Given the description of an element on the screen output the (x, y) to click on. 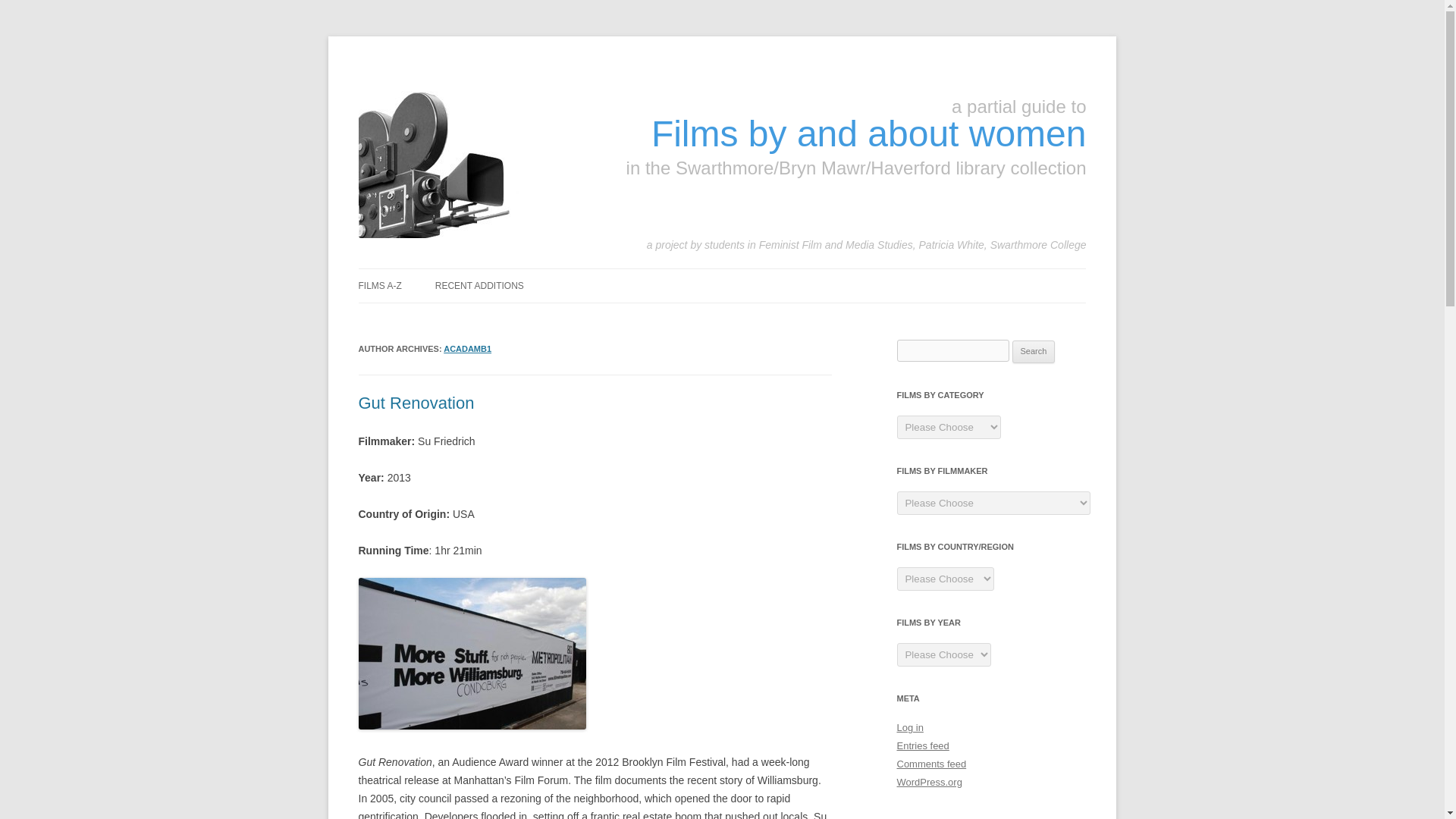
FILMS A-Z (379, 285)
acadamb1 (468, 347)
Log in (909, 727)
Recent Additions (479, 285)
Gut Renovation (416, 402)
Search (1033, 351)
Permalink to Gut Renovation (416, 402)
WordPress.org (928, 781)
Entries feed (922, 745)
Search (1033, 351)
Comments feed (931, 763)
Films by and about women (868, 134)
Films A-Z (379, 285)
